Given the description of an element on the screen output the (x, y) to click on. 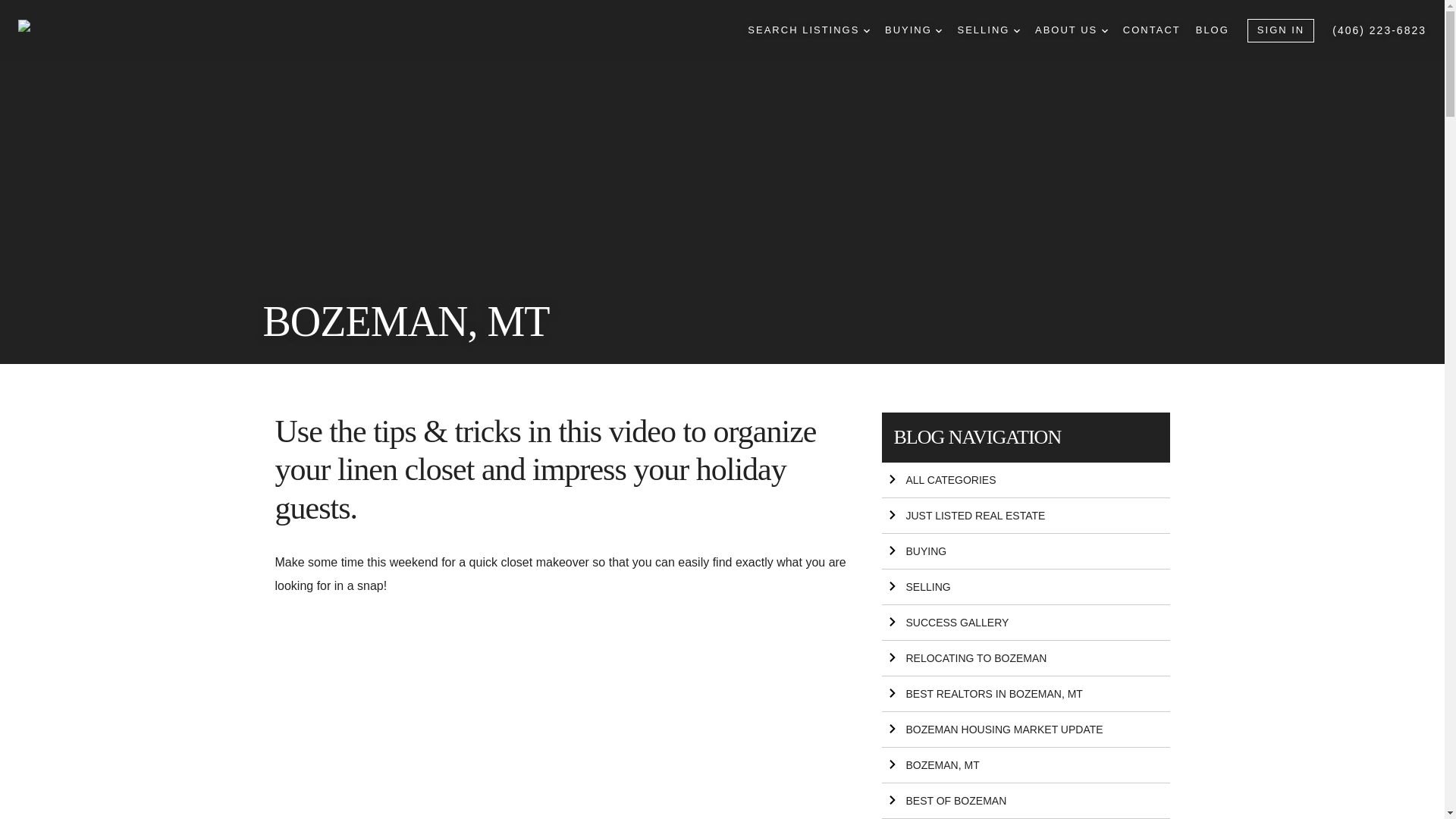
ABOUT US DROPDOWN ARROW (1071, 30)
DROPDOWN ARROW (1105, 30)
SELLING DROPDOWN ARROW (988, 30)
DROPDOWN ARROW (939, 30)
BLOG (1211, 30)
DROPDOWN ARROW (1016, 30)
DROPDOWN ARROW (866, 30)
SEARCH LISTINGS DROPDOWN ARROW (808, 30)
CONTACT (1151, 30)
BUYING DROPDOWN ARROW (913, 30)
